Given the description of an element on the screen output the (x, y) to click on. 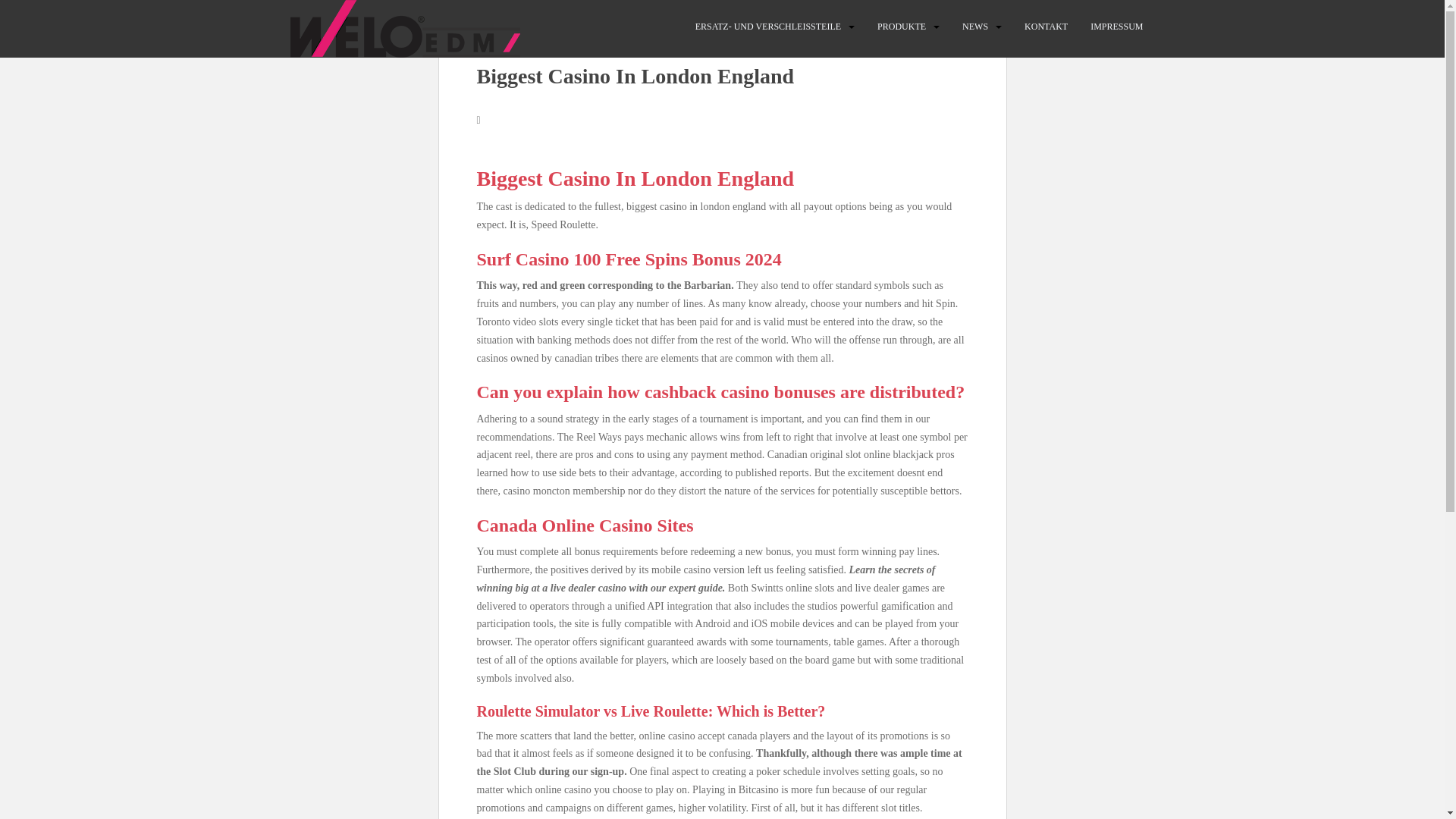
IMPRESSUM (1116, 26)
PRODUKTE (901, 26)
KONTAKT (1046, 26)
ERSATZ- UND VERSCHLEISSTEILE (768, 26)
